Given the description of an element on the screen output the (x, y) to click on. 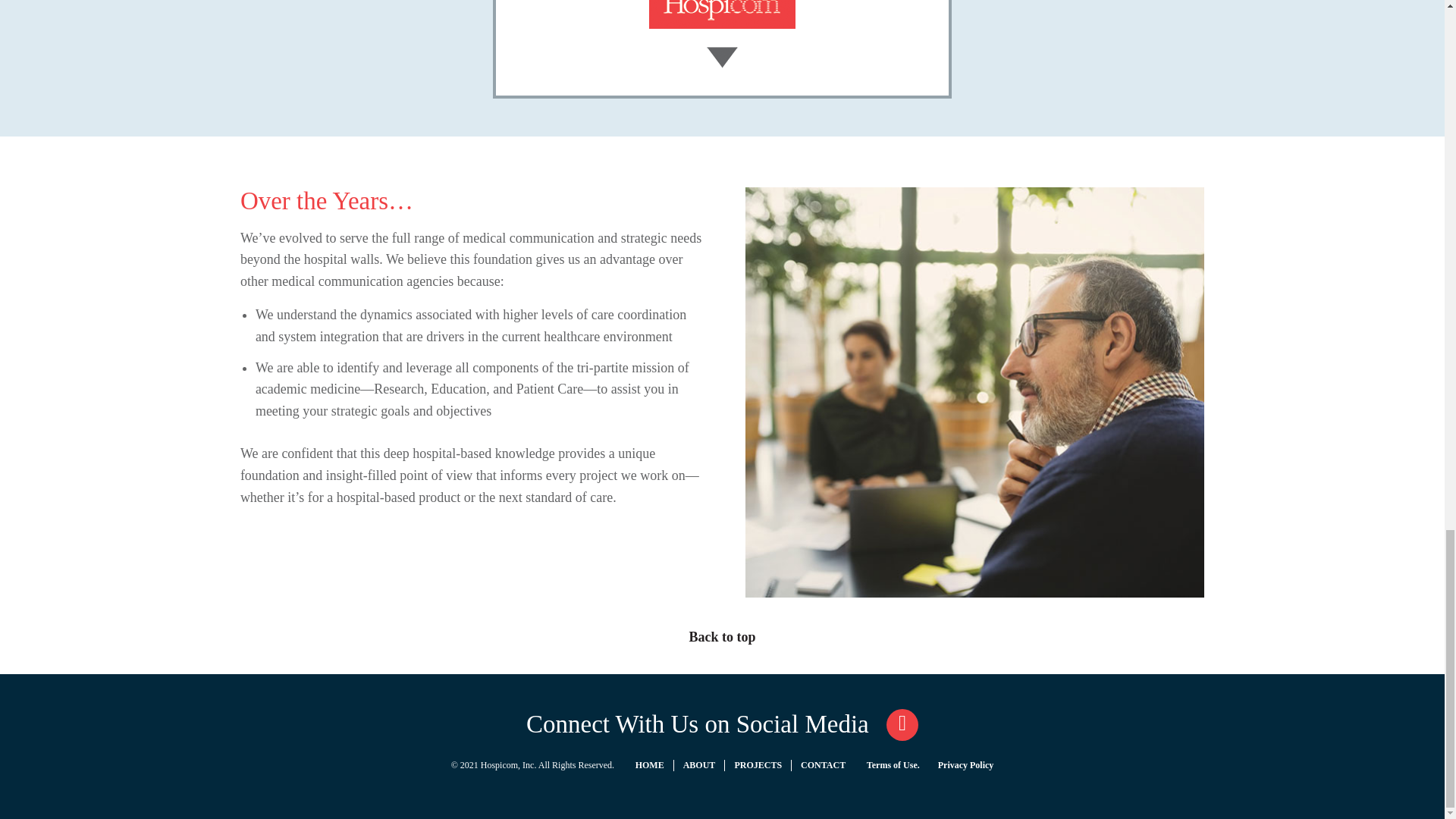
PROJECTS (757, 765)
HOME (648, 765)
ABOUT (699, 765)
Terms of Use. (893, 765)
Back to top (721, 636)
CONTACT (822, 765)
Privacy Policy (965, 765)
